Given the description of an element on the screen output the (x, y) to click on. 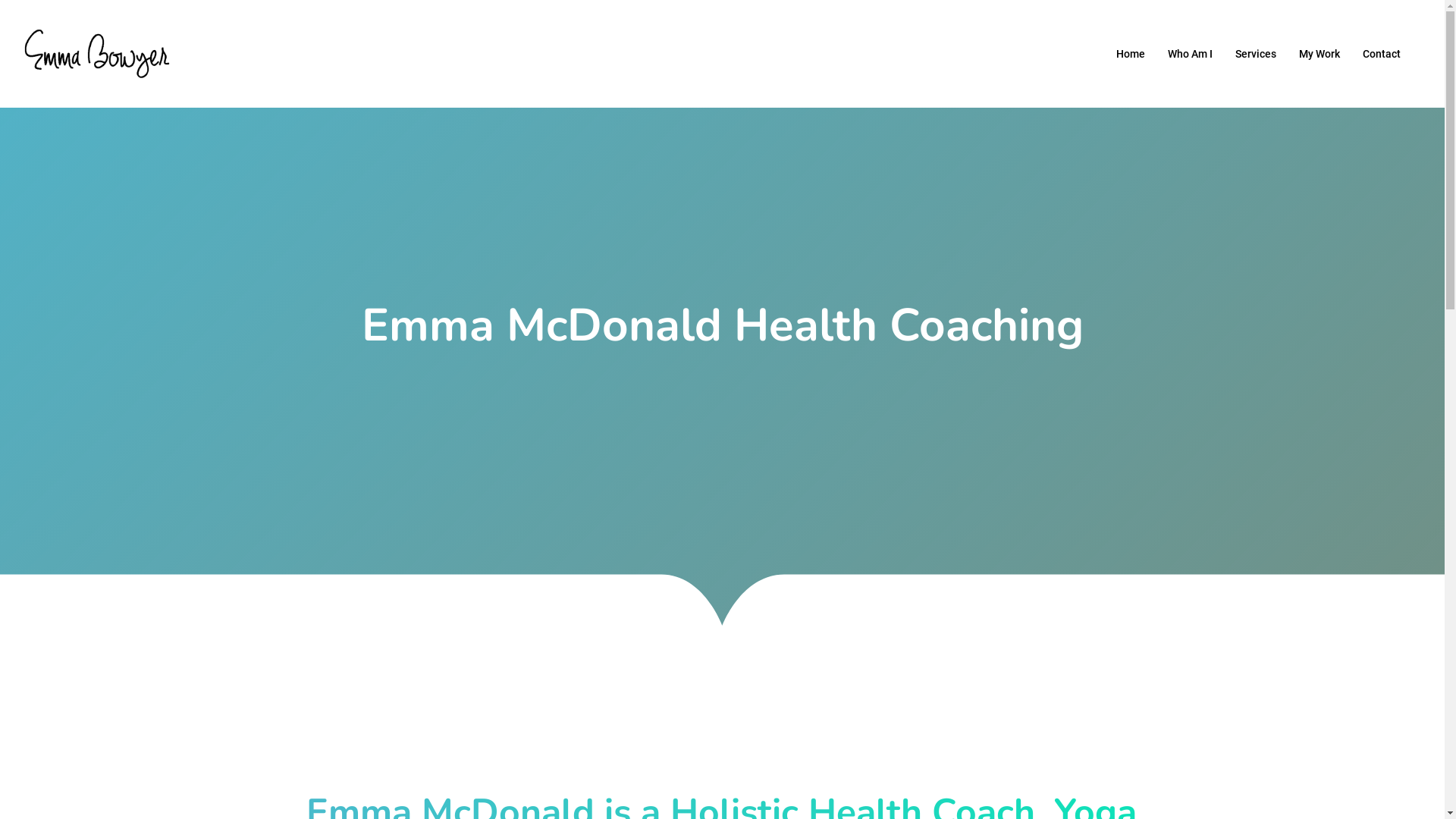
Home Element type: text (1130, 53)
linkedin Element type: text (722, 709)
Contact Element type: text (1381, 53)
My Work Element type: text (1319, 53)
Services Element type: text (1255, 53)
Who Am I Element type: text (1189, 53)
